Given the description of an element on the screen output the (x, y) to click on. 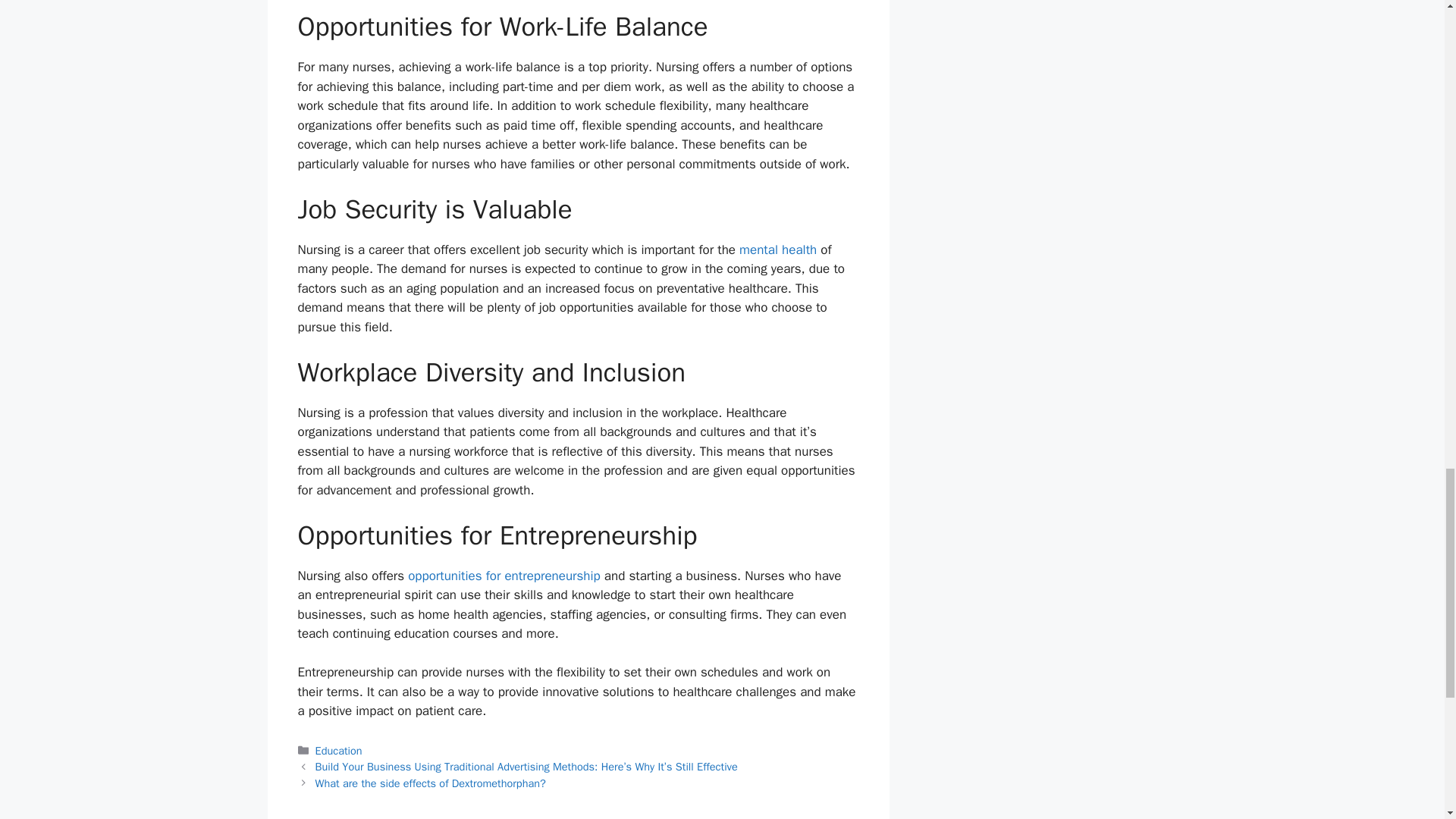
opportunities for entrepreneurship (503, 575)
What are the side effects of Dextromethorphan? (430, 783)
Education (338, 750)
mental health (777, 249)
